Given the description of an element on the screen output the (x, y) to click on. 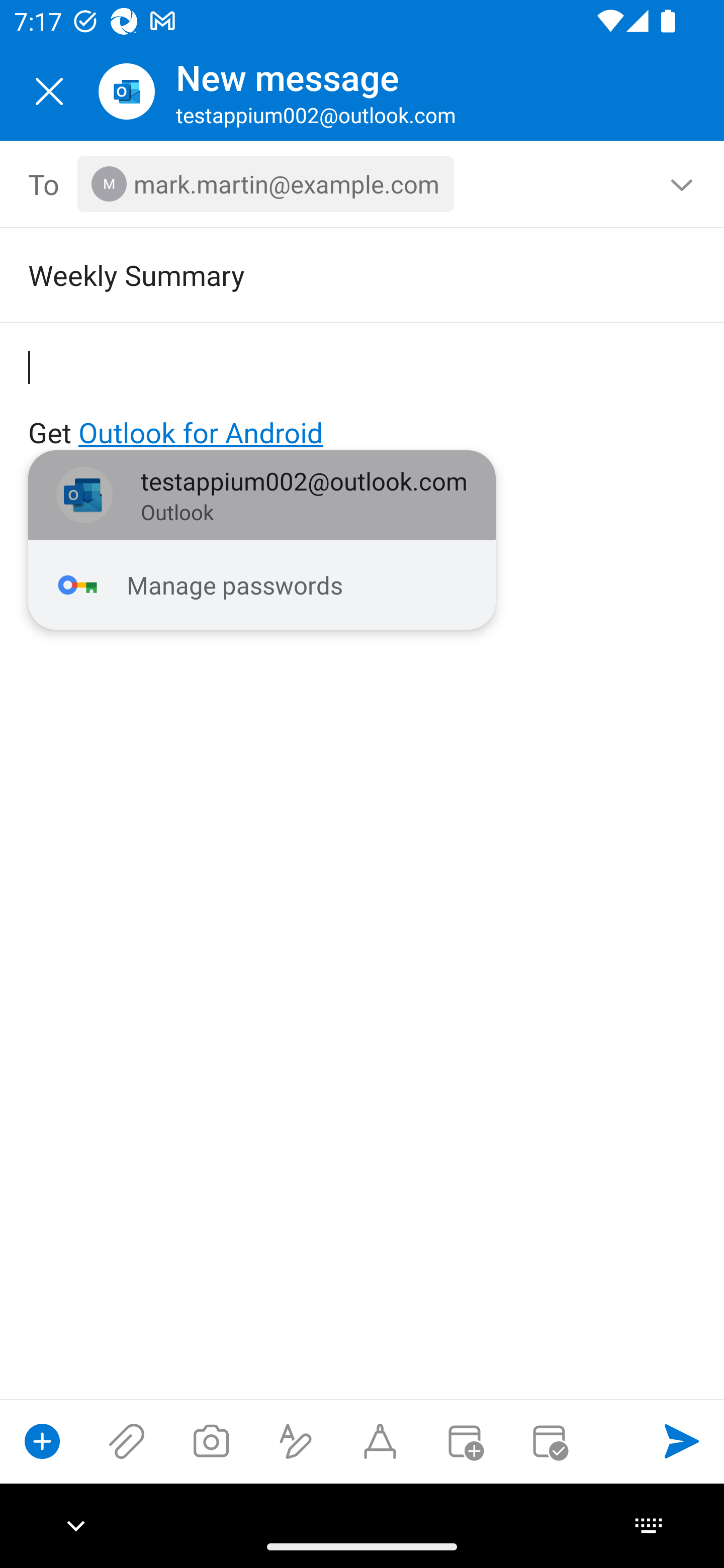
Outlook testappium002@outlook.com Outlook (261, 495)
Google Password Manager Manage passwords (261, 585)
